Given the description of an element on the screen output the (x, y) to click on. 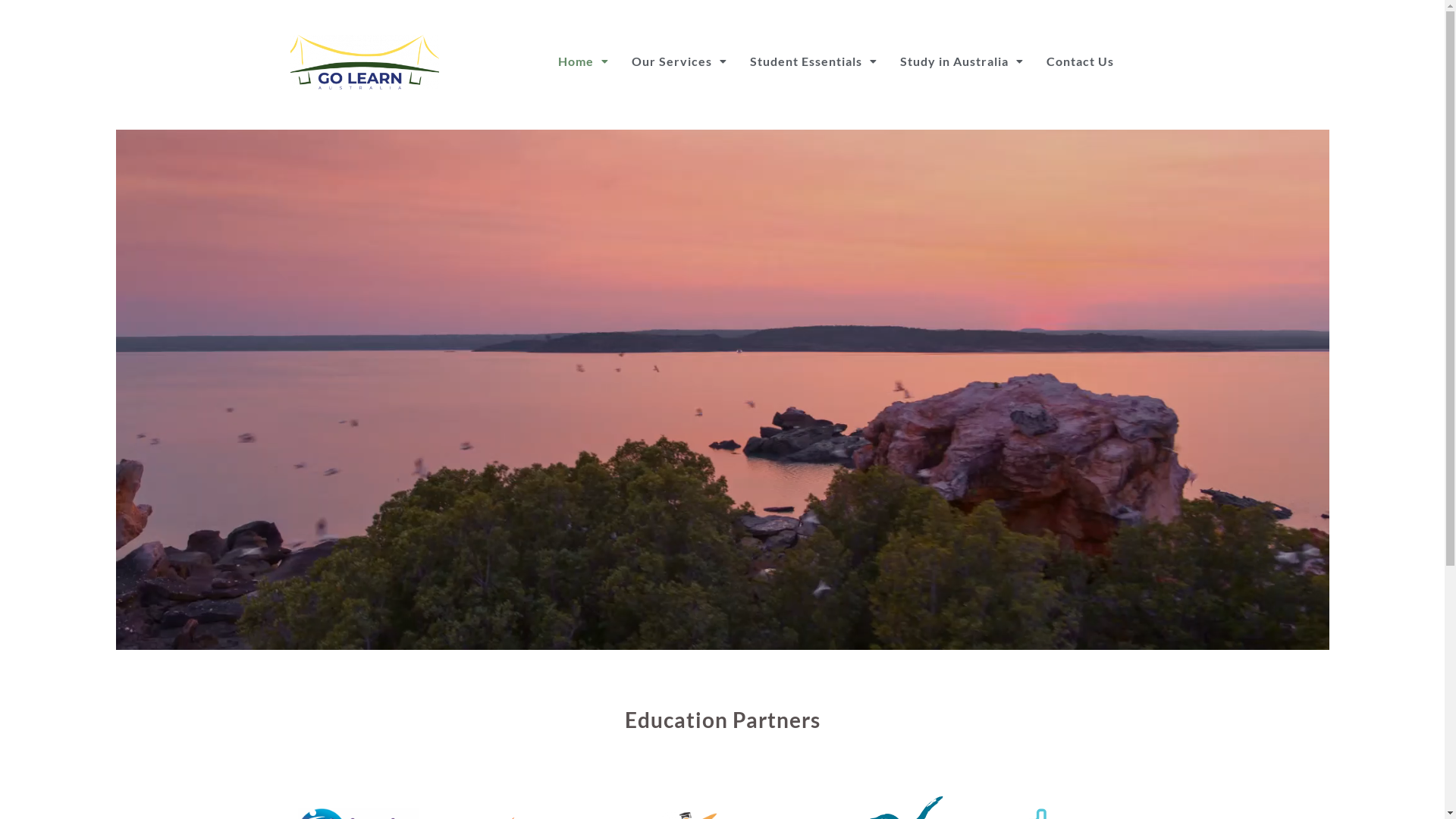
Home Element type: text (583, 60)
Contact Us Element type: text (1080, 60)
Our Services Element type: text (679, 60)
Student Essentials Element type: text (813, 60)
Study in Australia Element type: text (961, 60)
